Given the description of an element on the screen output the (x, y) to click on. 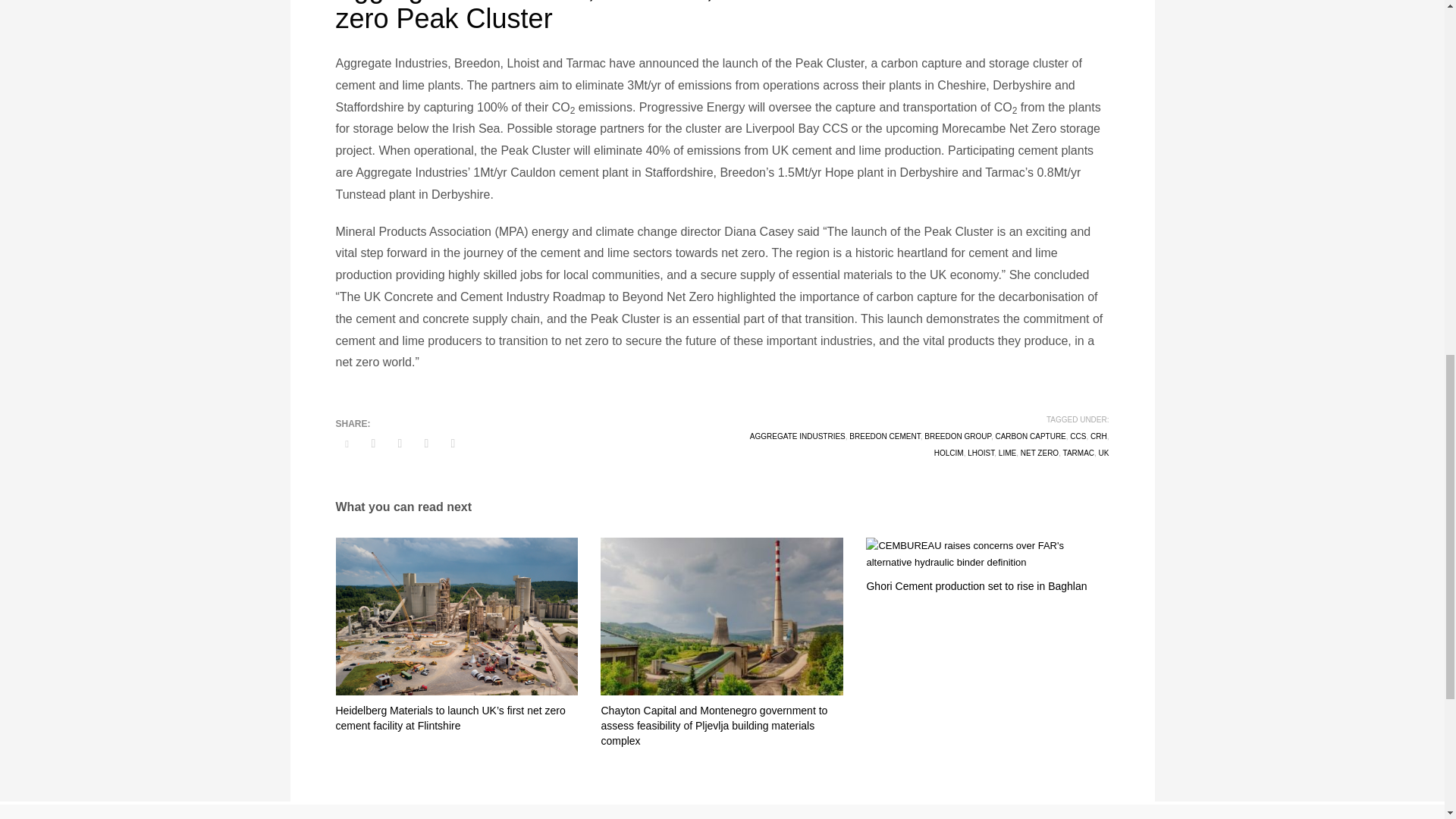
SHARE ON PINTEREST (426, 443)
SHARE ON TWITTER (346, 444)
SHARE ON FACEBOOK (373, 443)
SHARE ON MAIL (452, 443)
Montenegro-EPCG-ready-reconstruction-TPP-Pljevlja-jump-costs (721, 616)
SHARE ON GPLUS (399, 443)
